Given the description of an element on the screen output the (x, y) to click on. 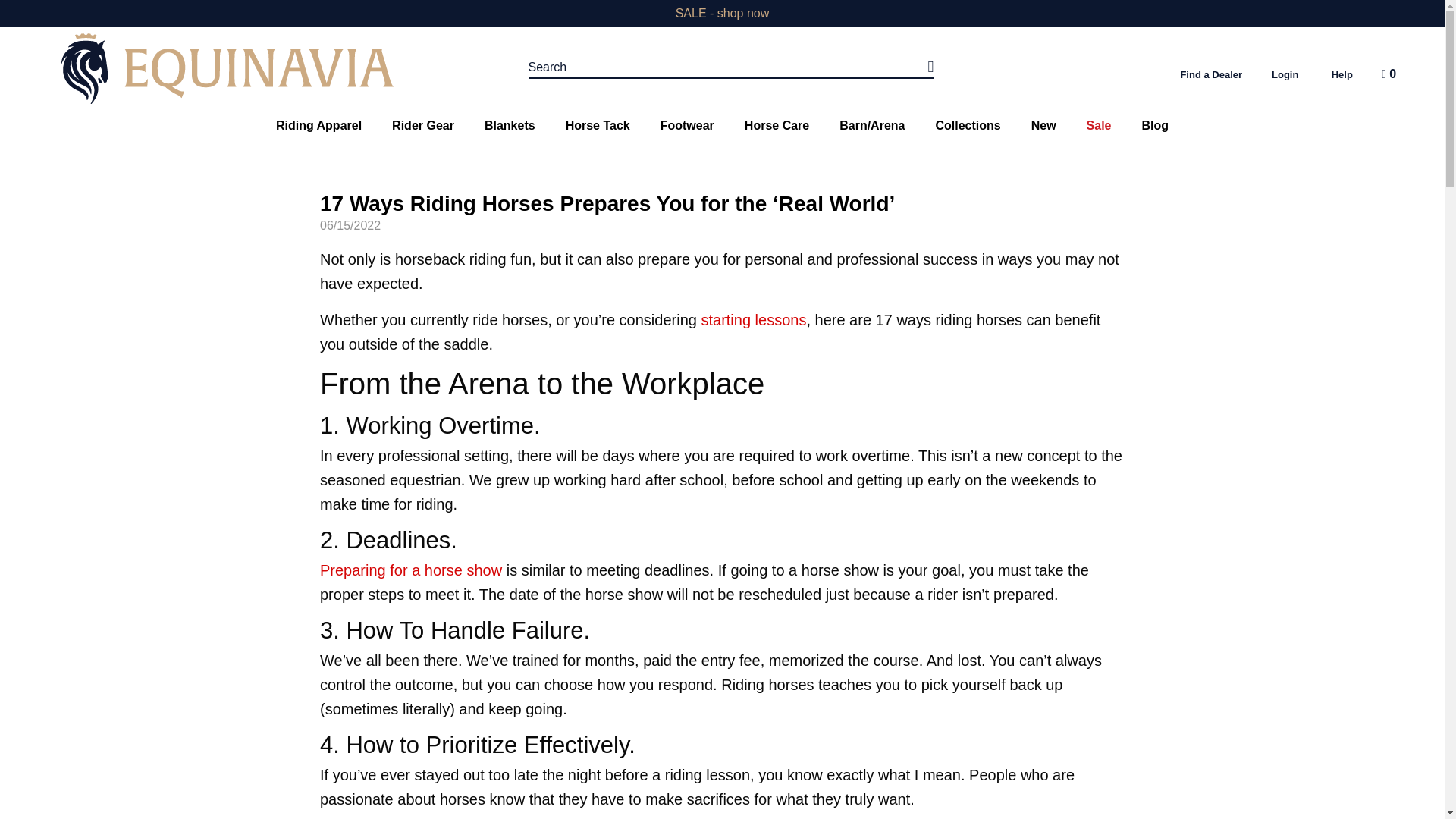
SALE - shop now (722, 12)
Help (1342, 74)
Find a Dealer (1210, 74)
Search (730, 67)
Login (1284, 74)
